Given the description of an element on the screen output the (x, y) to click on. 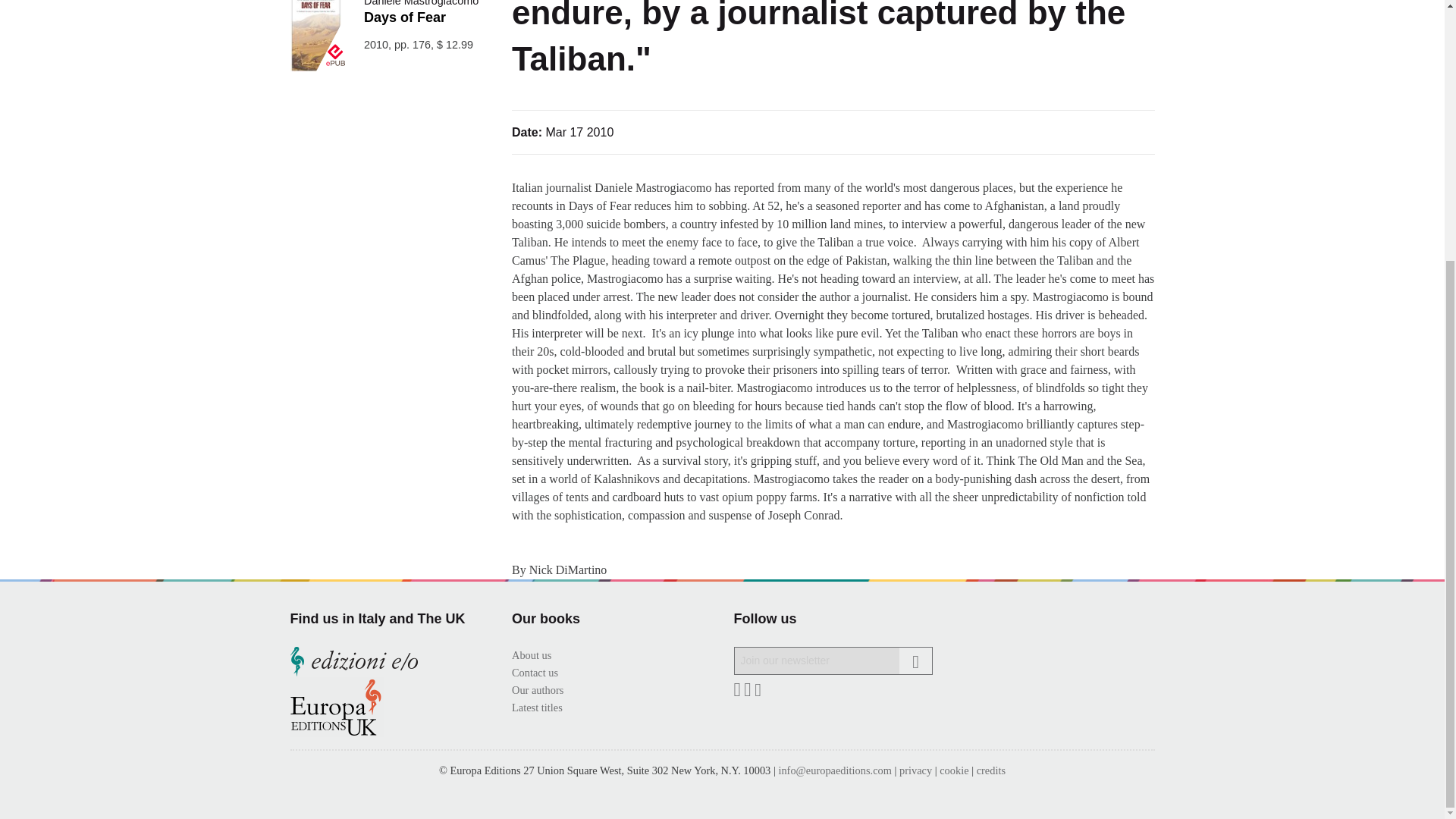
Our authors (537, 689)
Europa Compass (351, 18)
Cookie policy (953, 770)
Privacy policy (915, 770)
Latest titles (537, 707)
Days of Fear (404, 17)
About us (531, 654)
Contact us (534, 672)
